Given the description of an element on the screen output the (x, y) to click on. 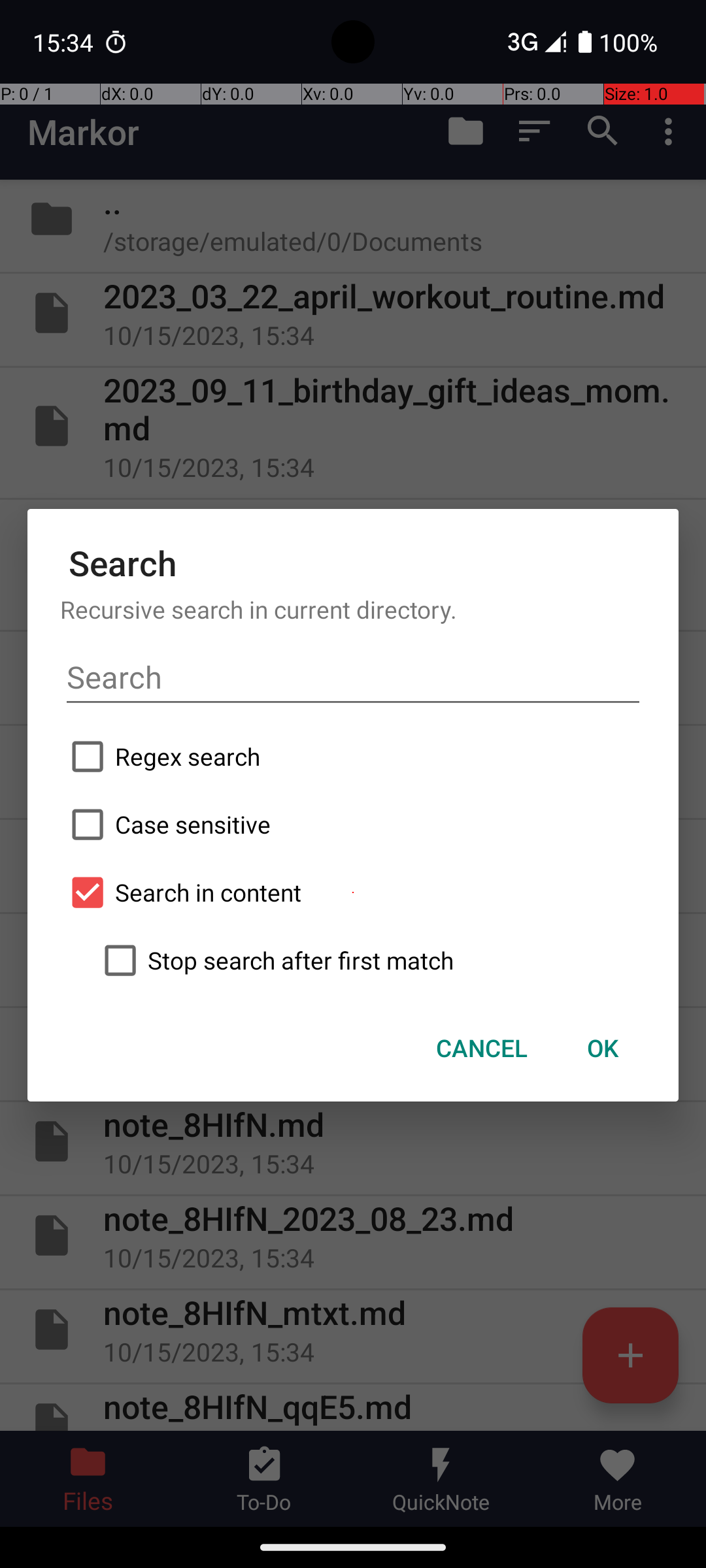
Stop search after first match Element type: android.widget.CheckBox (368, 959)
